Given the description of an element on the screen output the (x, y) to click on. 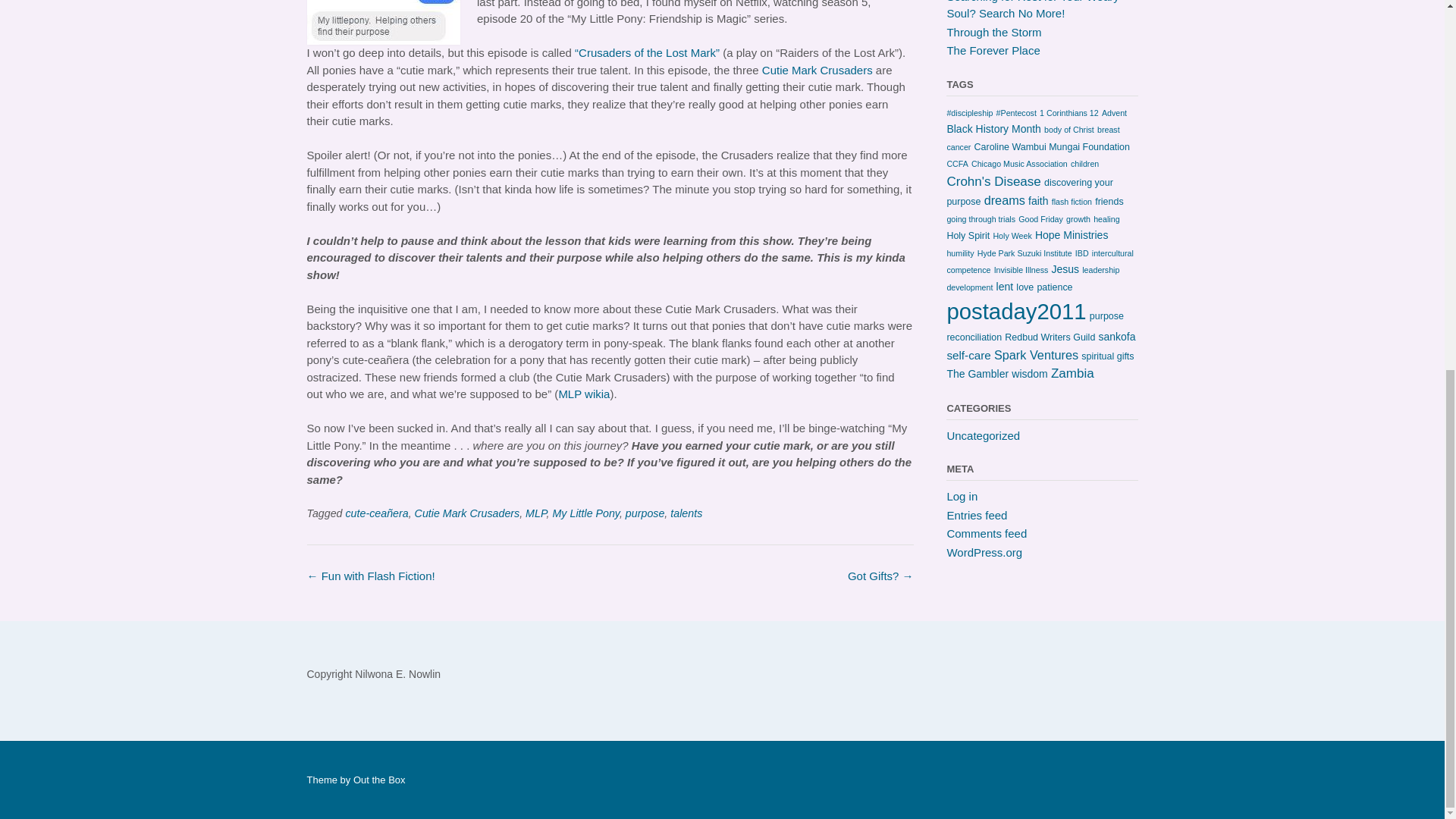
purpose (645, 512)
talents (685, 512)
Cutie Mark Crusaders (466, 512)
MLP (535, 512)
MLP wikia (583, 393)
The Forever Place (992, 50)
Cutie Mark Crusaders (816, 69)
My Little Pony (584, 512)
Searching for Rest for Your Weary Soul? Search No More! (1032, 10)
Through the Storm (993, 31)
